Given the description of an element on the screen output the (x, y) to click on. 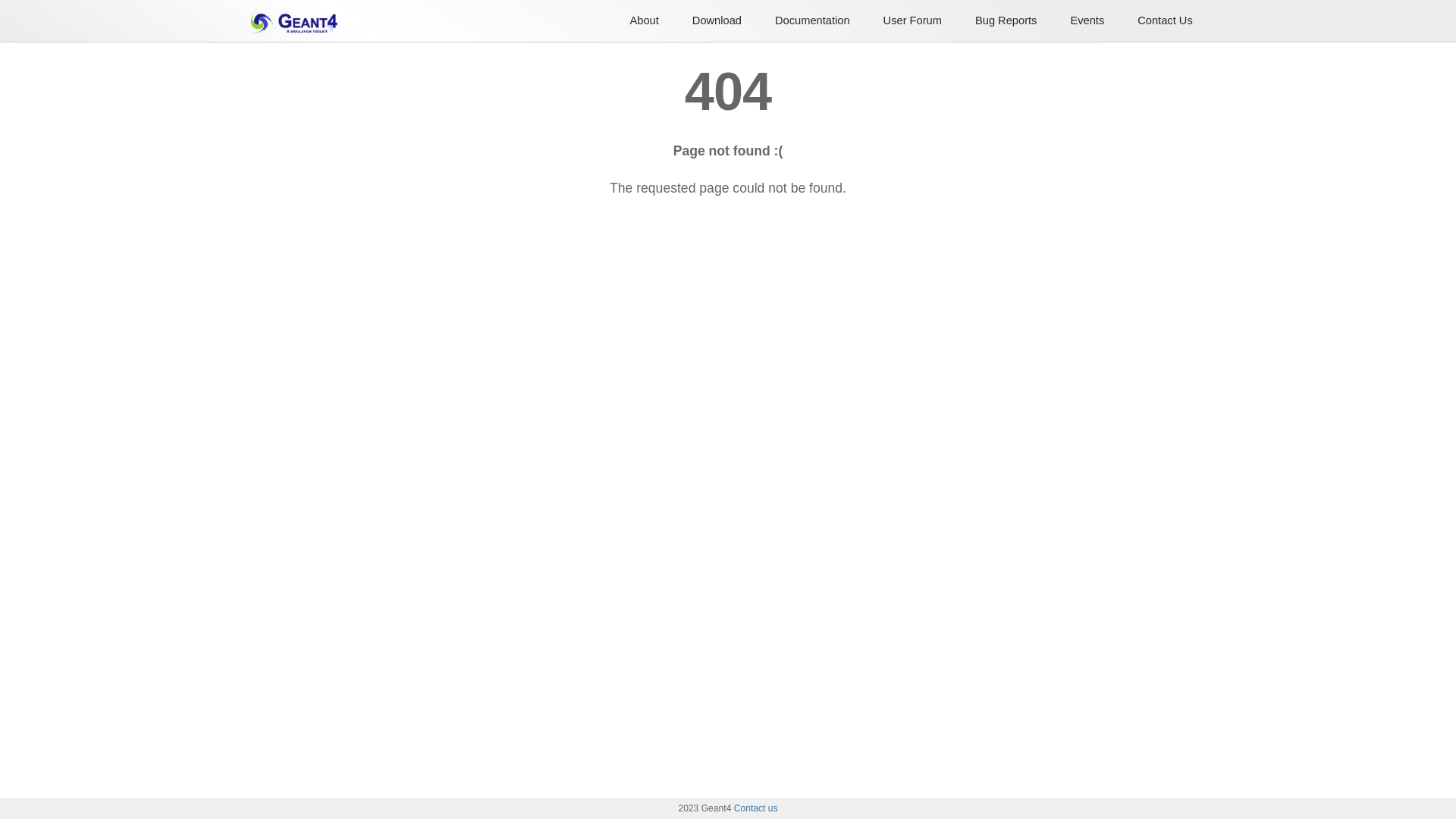
Contact Us Element type: text (1164, 20)
Bug Reports Element type: text (1005, 20)
About Element type: text (643, 20)
Download Element type: text (716, 20)
User Forum Element type: text (912, 20)
Documentation Element type: text (812, 20)
Contact us Element type: text (756, 808)
Skip to primary navigation Element type: text (0, 0)
Events Element type: text (1087, 20)
